Given the description of an element on the screen output the (x, y) to click on. 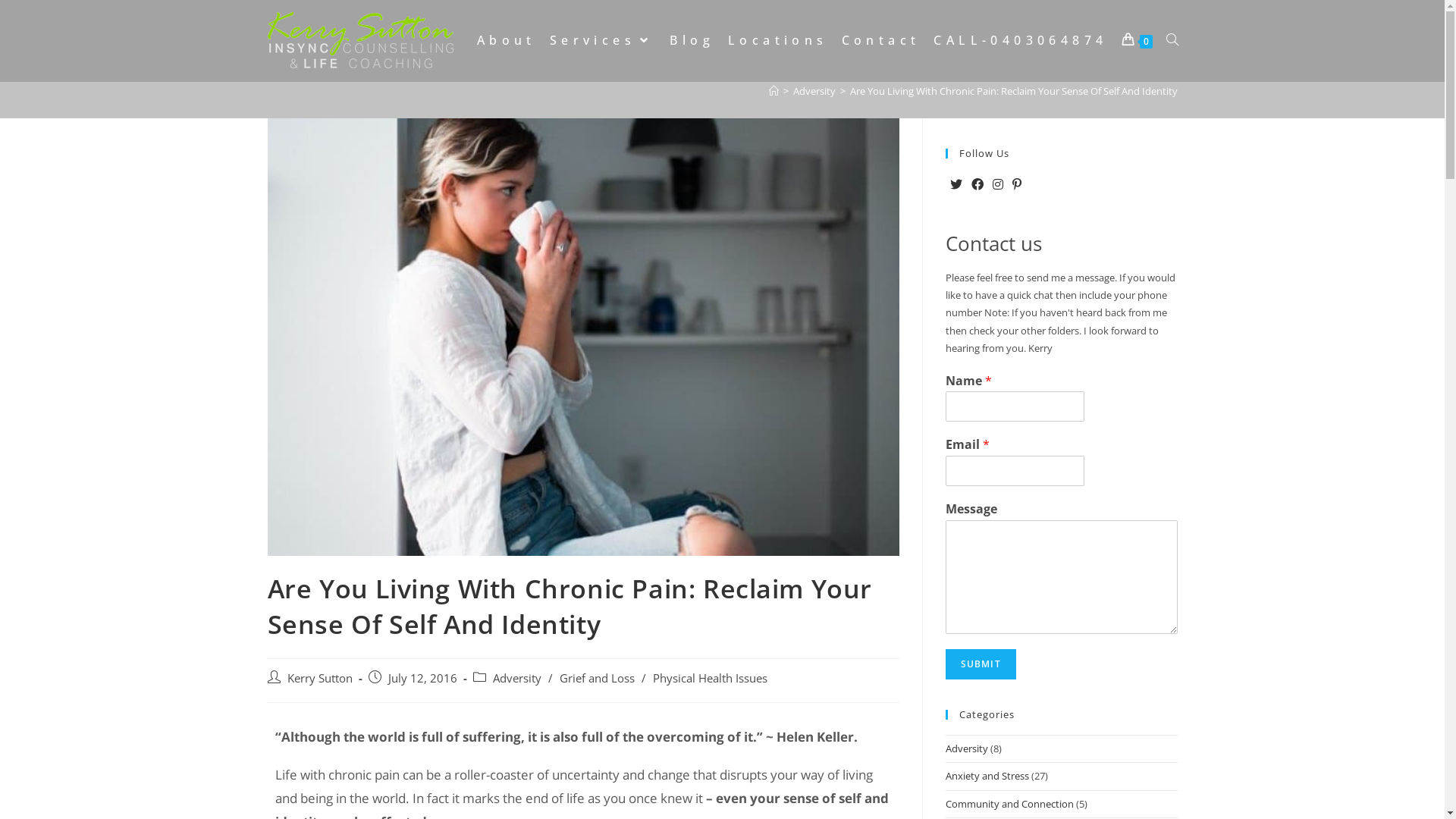
Adversity Element type: text (814, 90)
Contact Element type: text (880, 40)
Kerry Sutton Element type: text (318, 678)
Community and Connection Element type: text (1008, 803)
SUBMIT Element type: text (979, 664)
About Element type: text (506, 40)
Blog Element type: text (691, 40)
CALL-0403064874 Element type: text (1019, 40)
Grief and Loss Element type: text (596, 678)
Locations Element type: text (777, 40)
Adversity Element type: text (516, 678)
Anxiety and Stress Element type: text (986, 775)
Physical Health Issues Element type: text (709, 678)
Adversity Element type: text (965, 748)
0 Element type: text (1136, 40)
Services Element type: text (602, 40)
